Given the description of an element on the screen output the (x, y) to click on. 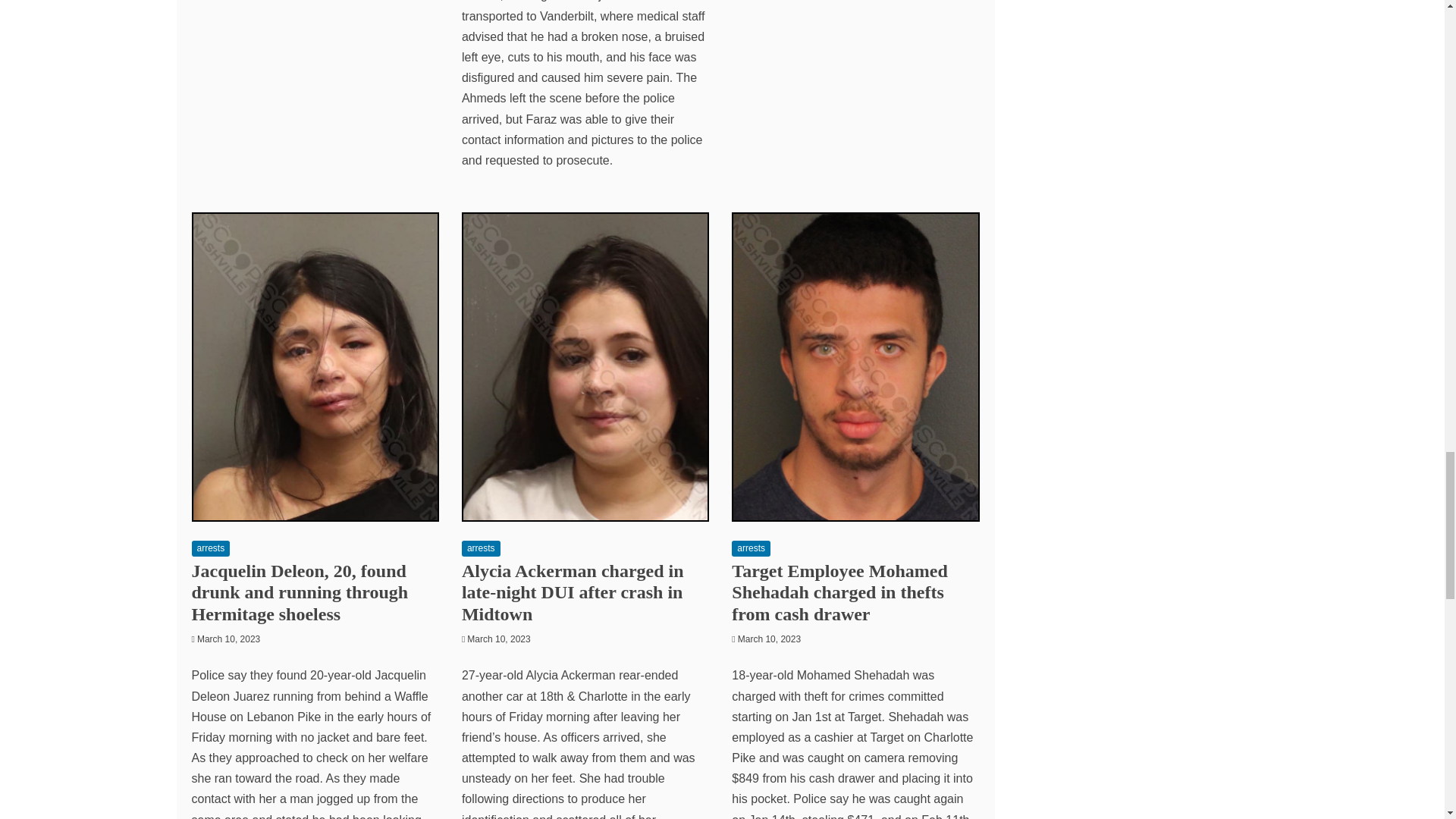
March 10, 2023 (228, 638)
arrests (480, 548)
arrests (210, 548)
